Given the description of an element on the screen output the (x, y) to click on. 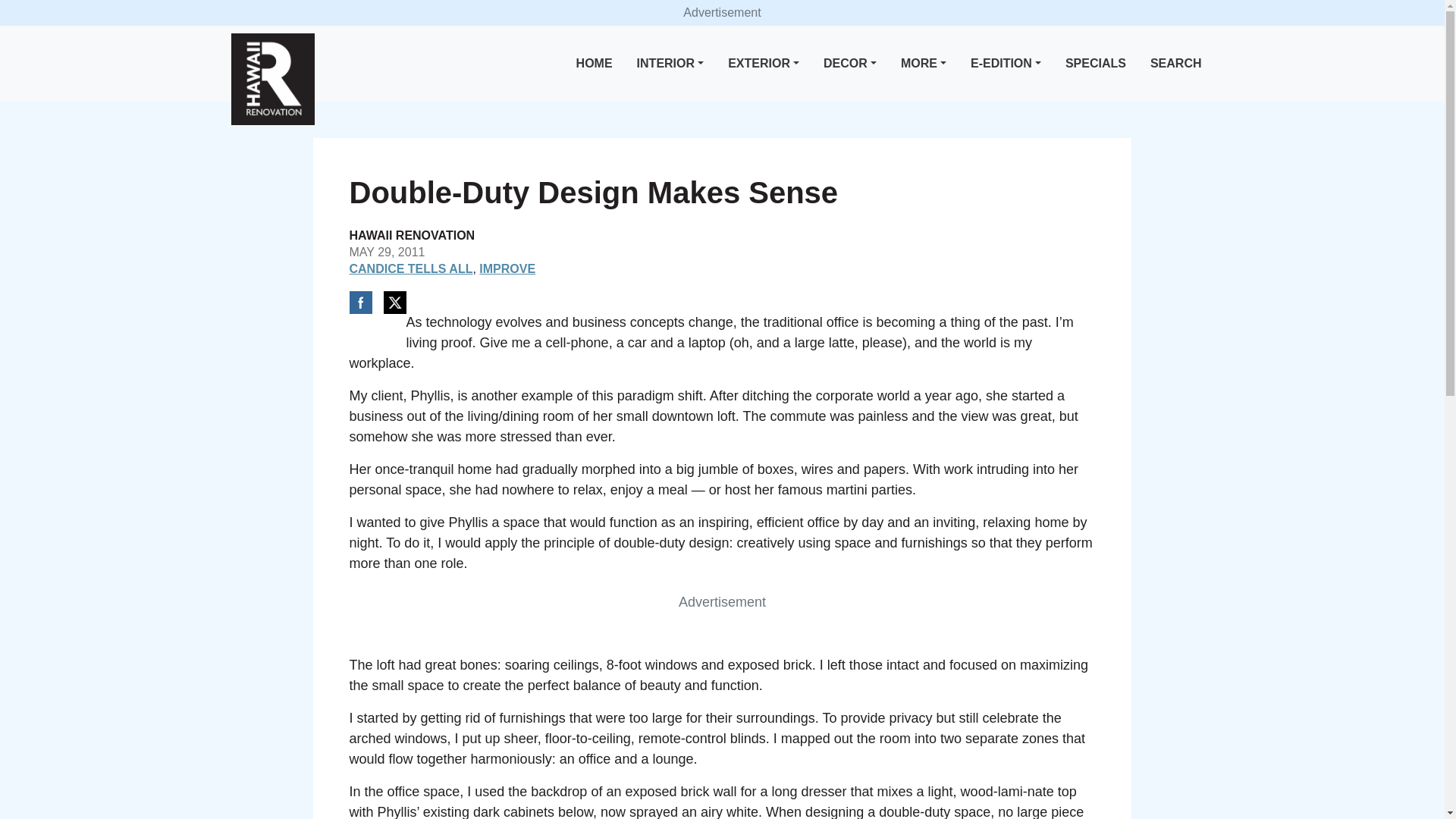
E-EDITION (1004, 63)
Facebook (360, 302)
EXTERIOR (763, 63)
INTERIOR (670, 63)
CANDICE TELLS ALL (410, 268)
HOME (594, 63)
DECOR (849, 63)
IMPROVE (507, 268)
Twitter (395, 302)
SPECIALS (1095, 63)
